Given the description of an element on the screen output the (x, y) to click on. 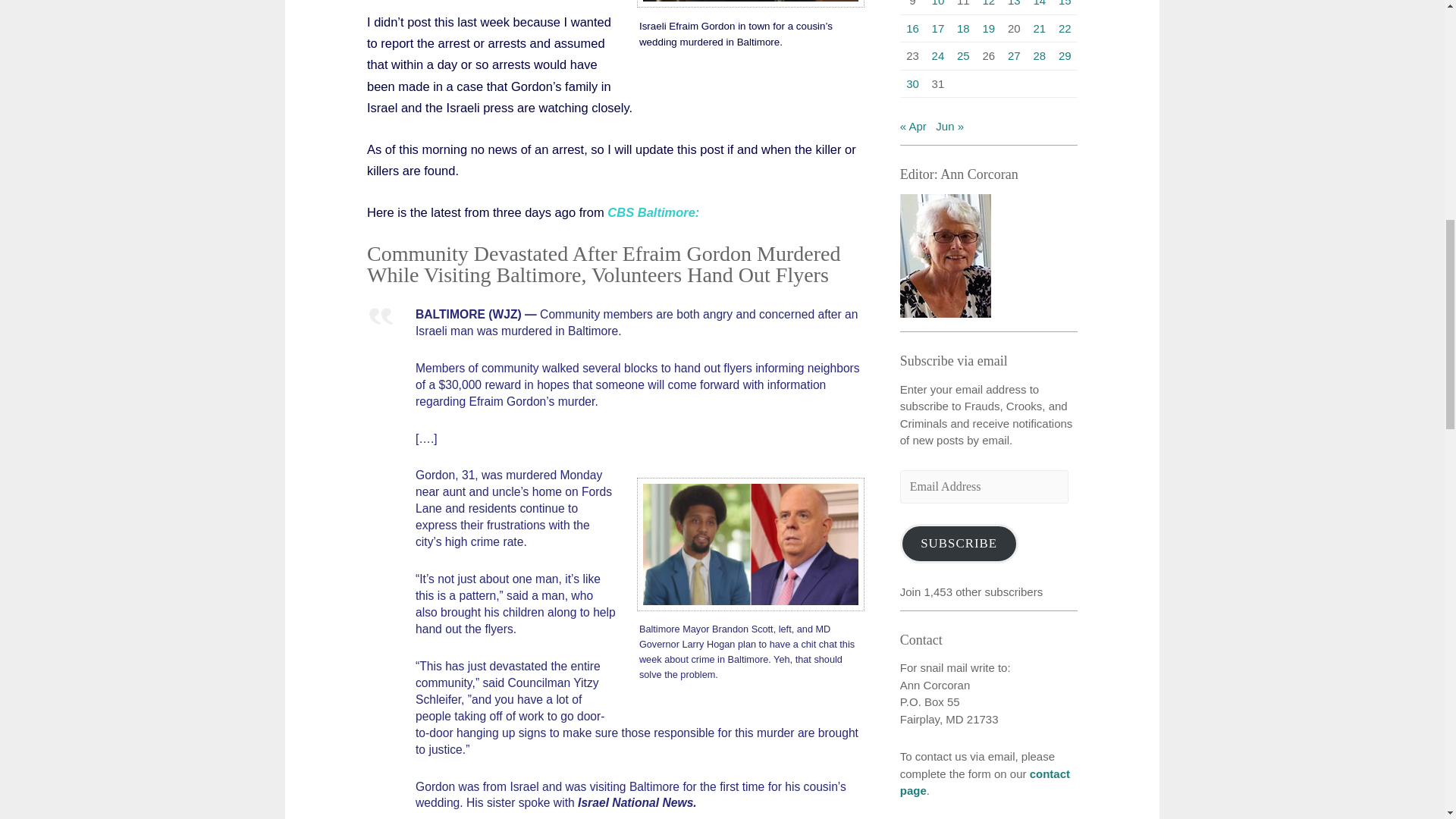
17 (937, 27)
13 (1013, 3)
28 (1038, 55)
21 (1038, 27)
15 (1064, 3)
14 (1038, 3)
CBS Baltimore (651, 212)
18 (962, 27)
24 (937, 55)
27 (1013, 55)
